Given the description of an element on the screen output the (x, y) to click on. 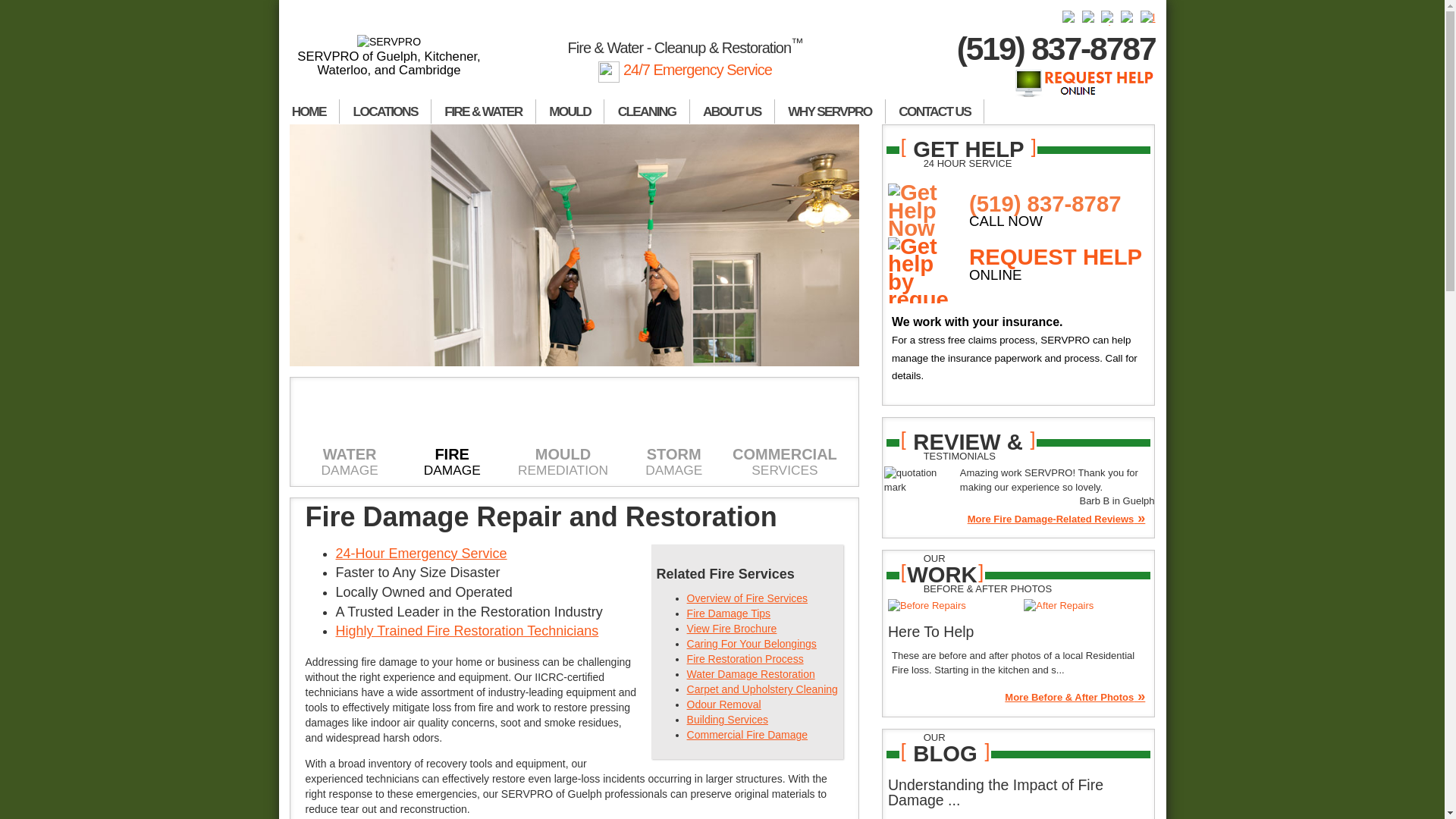
HOME (309, 111)
CLEANING (646, 111)
MOULD (570, 111)
LOCATIONS (384, 111)
SERVPRO of Guelph, Kitchener, Waterloo, and Cambridge (389, 55)
